Given the description of an element on the screen output the (x, y) to click on. 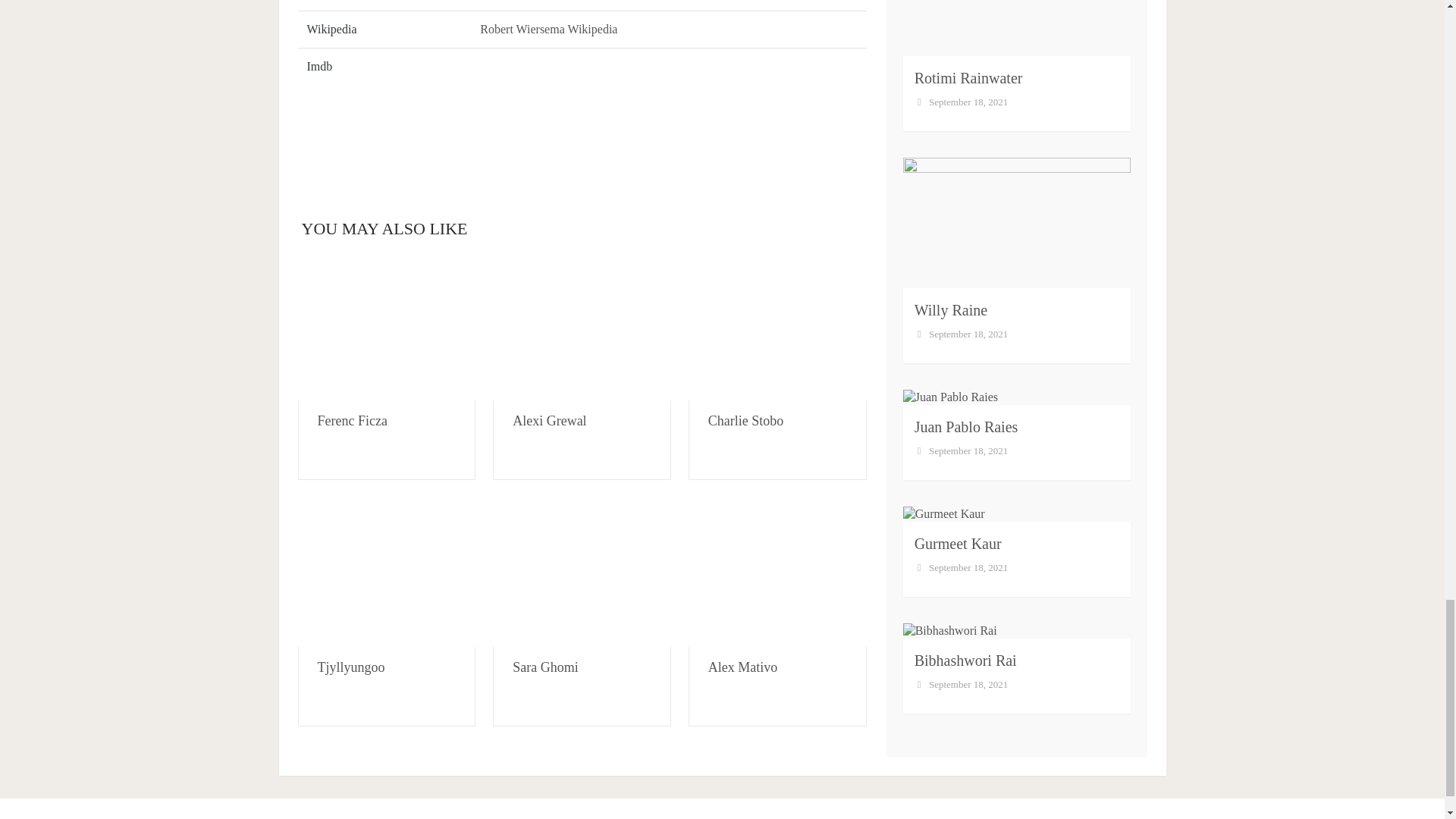
Alexi Grewal (549, 420)
Sara Ghomi (582, 574)
Charlie Stobo (777, 328)
Ferenc Ficza (386, 328)
Robert Wiersema Wikipedia (548, 29)
Sara Ghomi (545, 667)
Charlie Stobo (745, 420)
Alex Mativo (742, 667)
Alexi Grewal (582, 328)
Corona Tracker (581, 131)
Alex Mativo (777, 574)
Ferenc Ficza (352, 420)
Tjyllyungoo (386, 574)
Tjyllyungoo (350, 667)
